Given the description of an element on the screen output the (x, y) to click on. 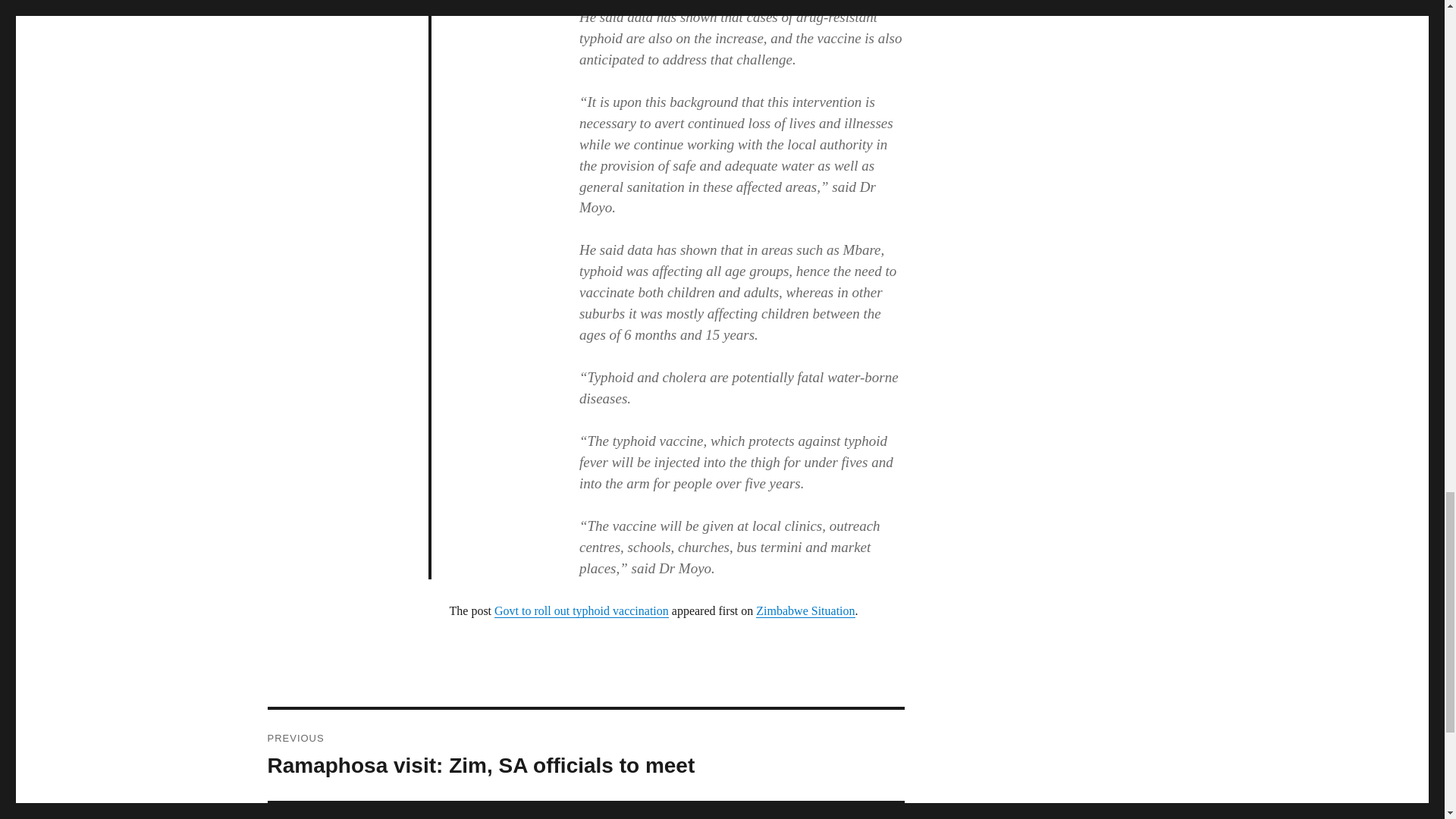
Zimbabwe Situation (804, 610)
Govt to roll out typhoid vaccination (581, 610)
